Given the description of an element on the screen output the (x, y) to click on. 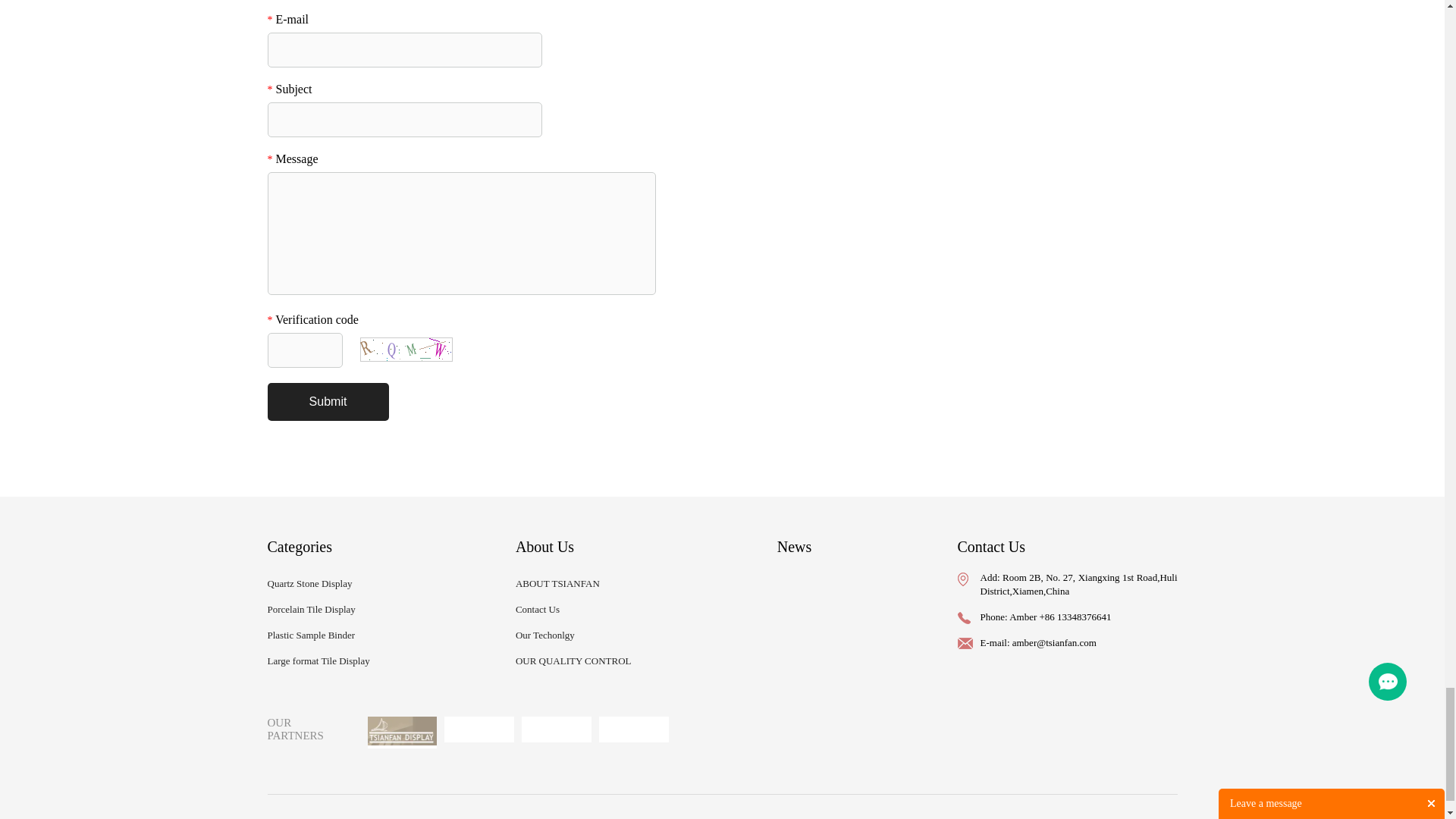
03 (556, 729)
Submit (327, 401)
04 (633, 729)
01 (401, 732)
02 (478, 729)
